Given the description of an element on the screen output the (x, y) to click on. 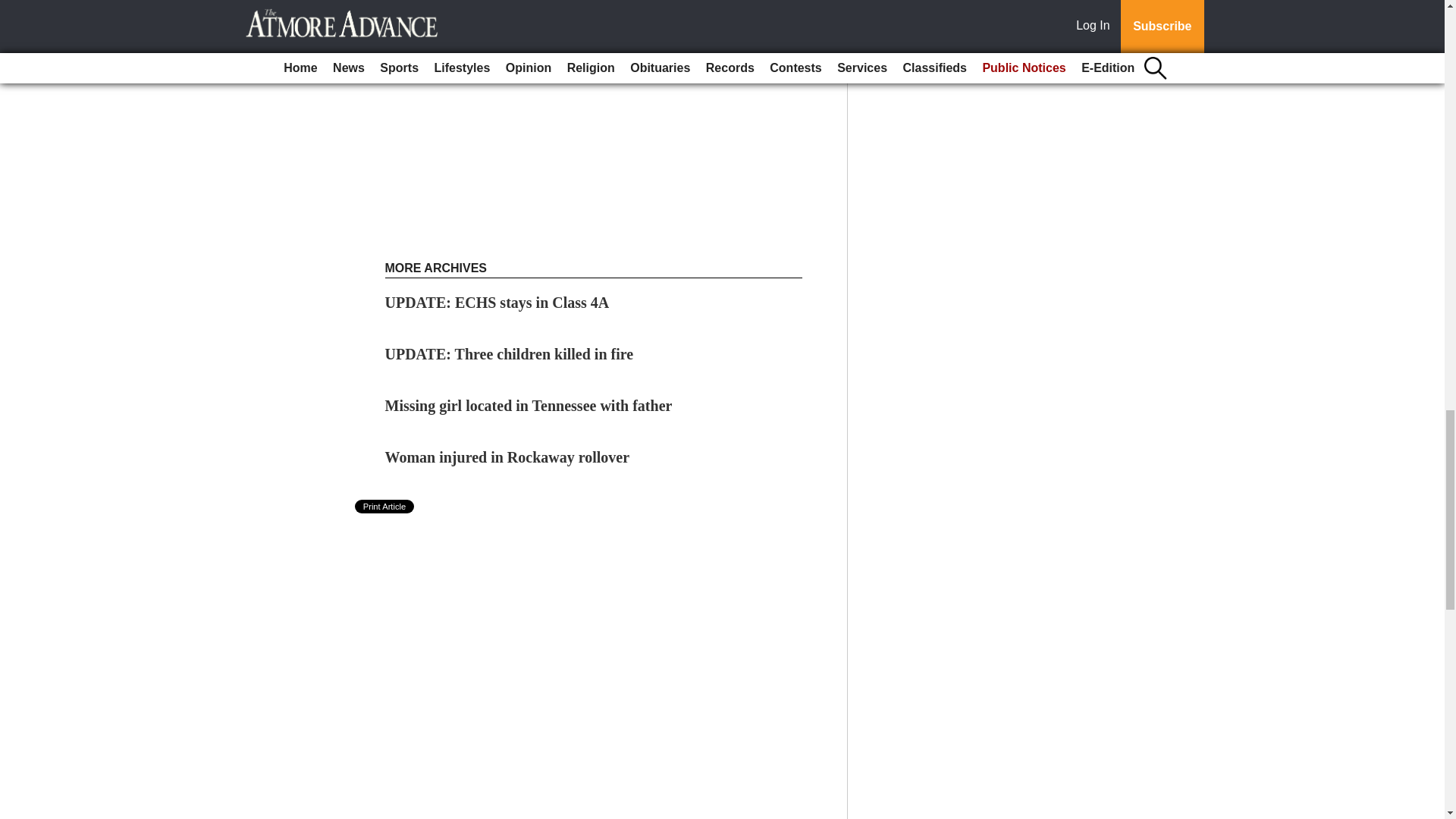
UPDATE: Three children killed in fire (509, 353)
Print Article (384, 506)
UPDATE: Three children killed in fire (509, 353)
UPDATE: ECHS stays in Class 4A (497, 302)
Missing girl located in Tennessee with father (528, 405)
Woman injured in Rockaway rollover (507, 457)
Woman injured in Rockaway rollover (507, 457)
Missing girl located in Tennessee with father (528, 405)
UPDATE: ECHS stays in Class 4A (497, 302)
